Given the description of an element on the screen output the (x, y) to click on. 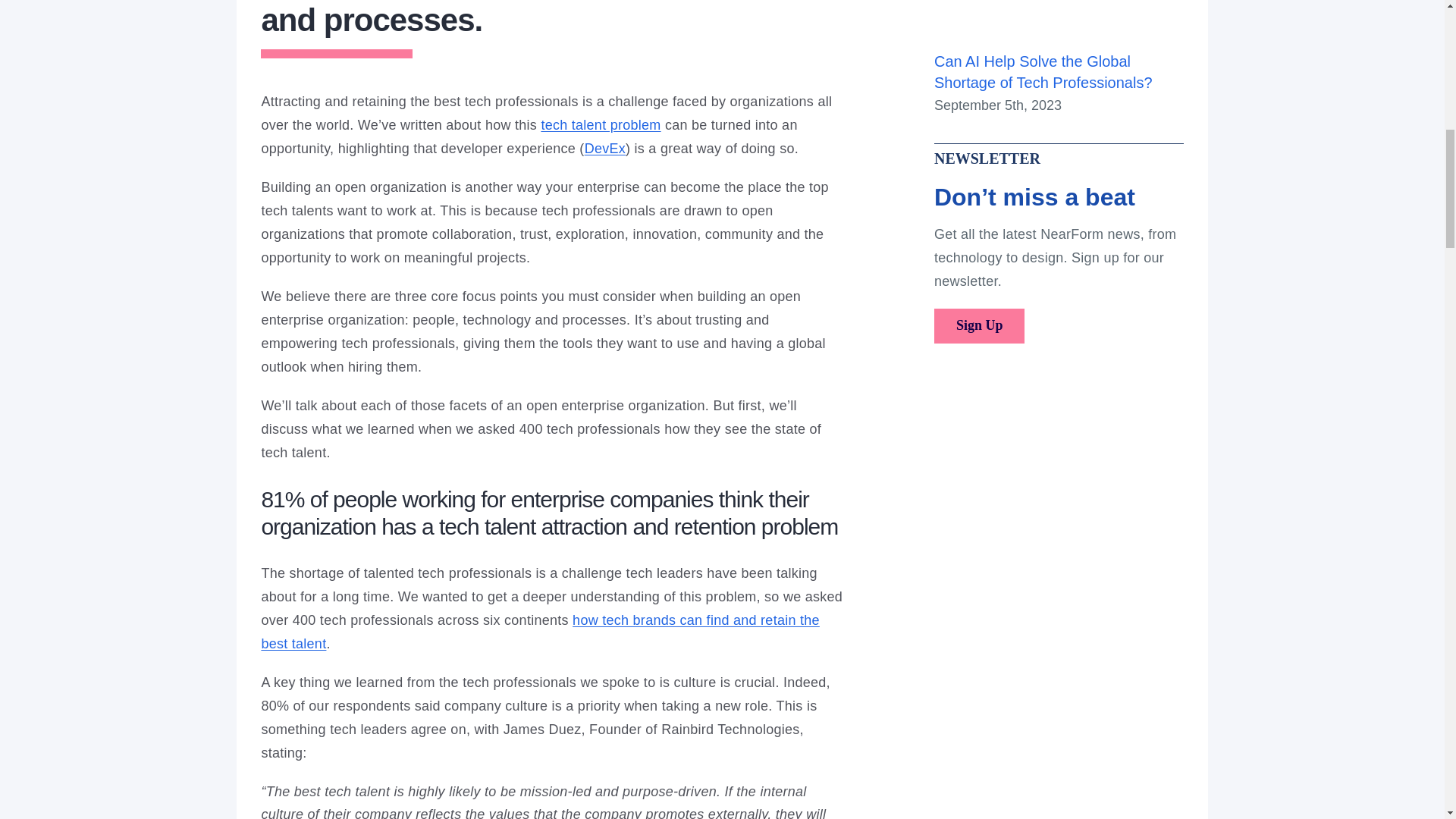
DevEx (605, 148)
tech talent problem (600, 124)
how tech brands can find and retain the best talent (539, 631)
Can AI Help Solve the Global Shortage of Tech Professionals? (1043, 71)
